Given the description of an element on the screen output the (x, y) to click on. 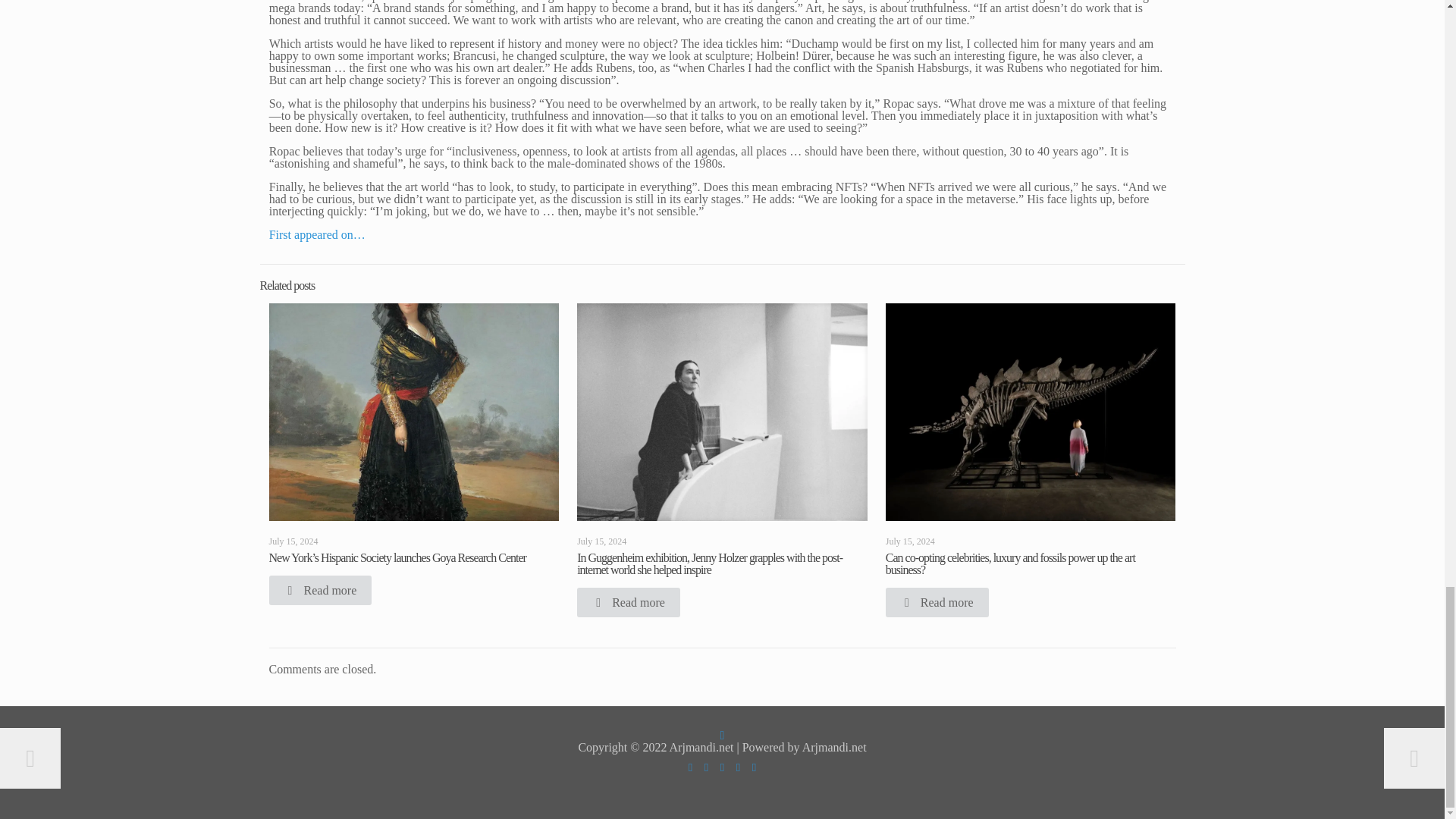
YouTube (705, 767)
Instagram (738, 767)
LinkedIn (722, 767)
etsy (754, 767)
Read more (319, 590)
Facebook (689, 767)
